Given the description of an element on the screen output the (x, y) to click on. 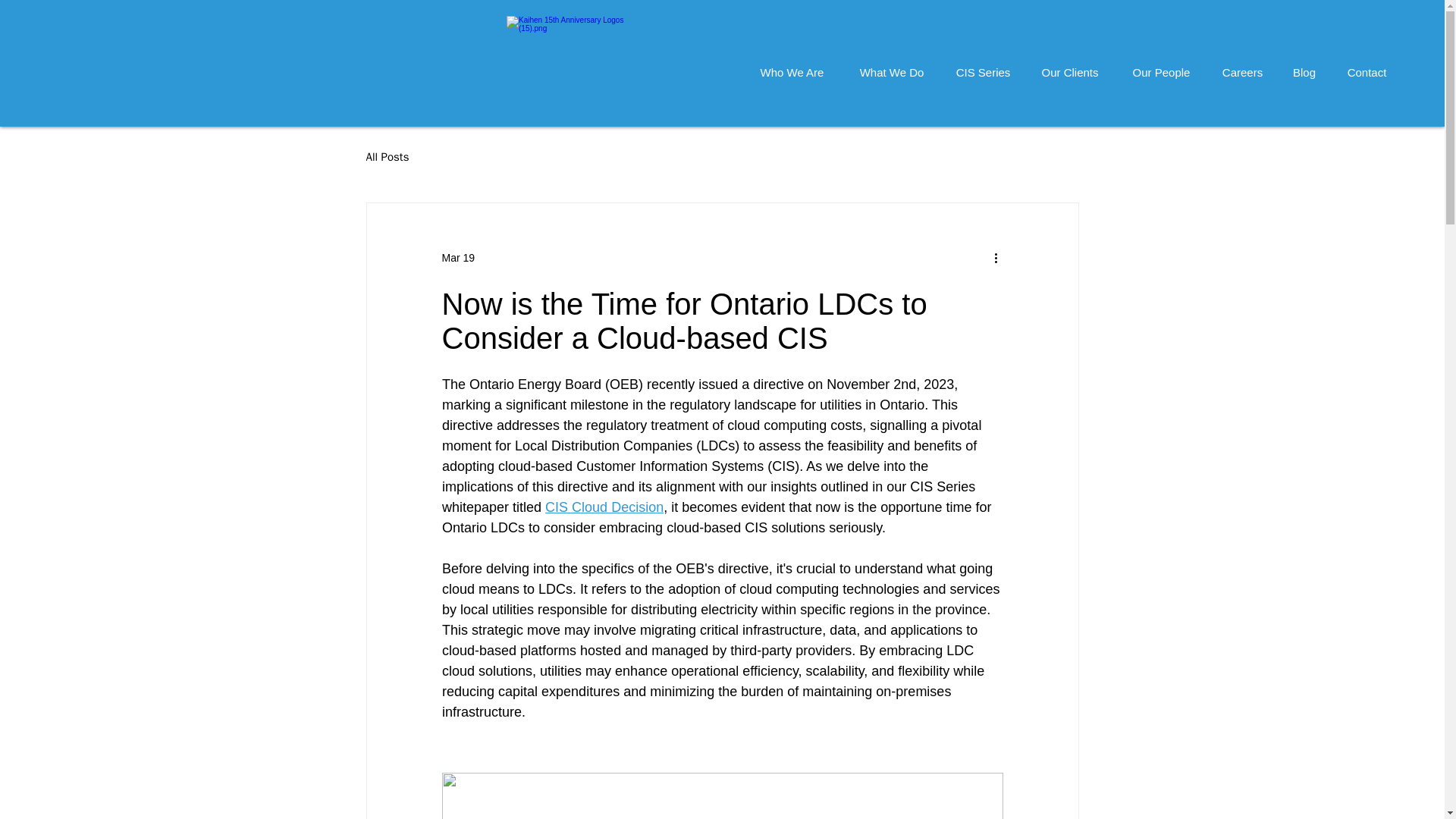
Who We Are (791, 65)
CIS Series (983, 65)
Our People (1161, 65)
What We Do (891, 65)
Contact (1366, 65)
All Posts (387, 156)
Our Clients (1070, 65)
Careers (1242, 65)
CIS Cloud Decision (603, 507)
Blog (1304, 65)
